Given the description of an element on the screen output the (x, y) to click on. 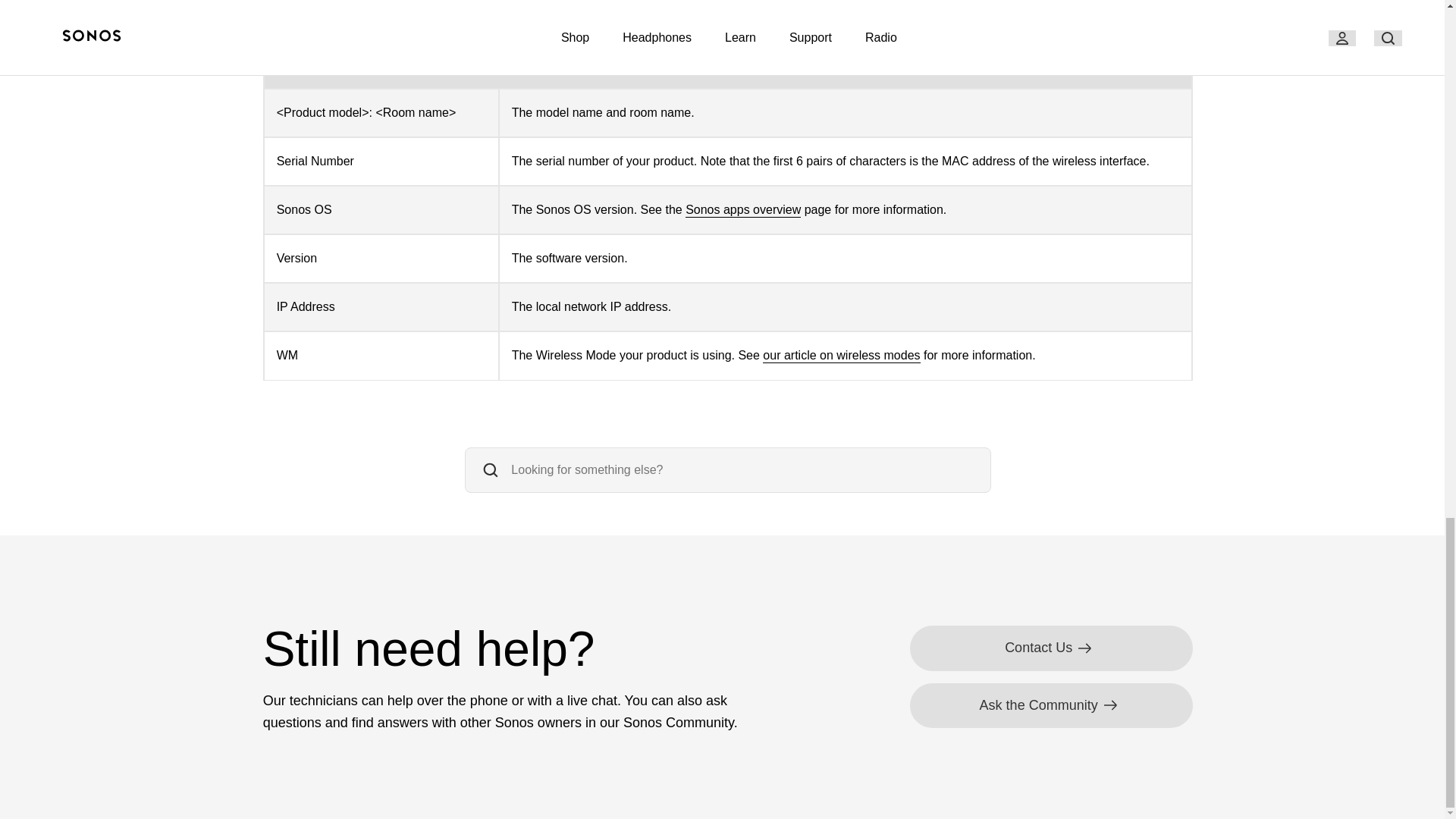
our article on wireless modes (841, 355)
Contact Us (1051, 647)
Sonos apps overview (742, 210)
Ask the Community (1051, 705)
